Given the description of an element on the screen output the (x, y) to click on. 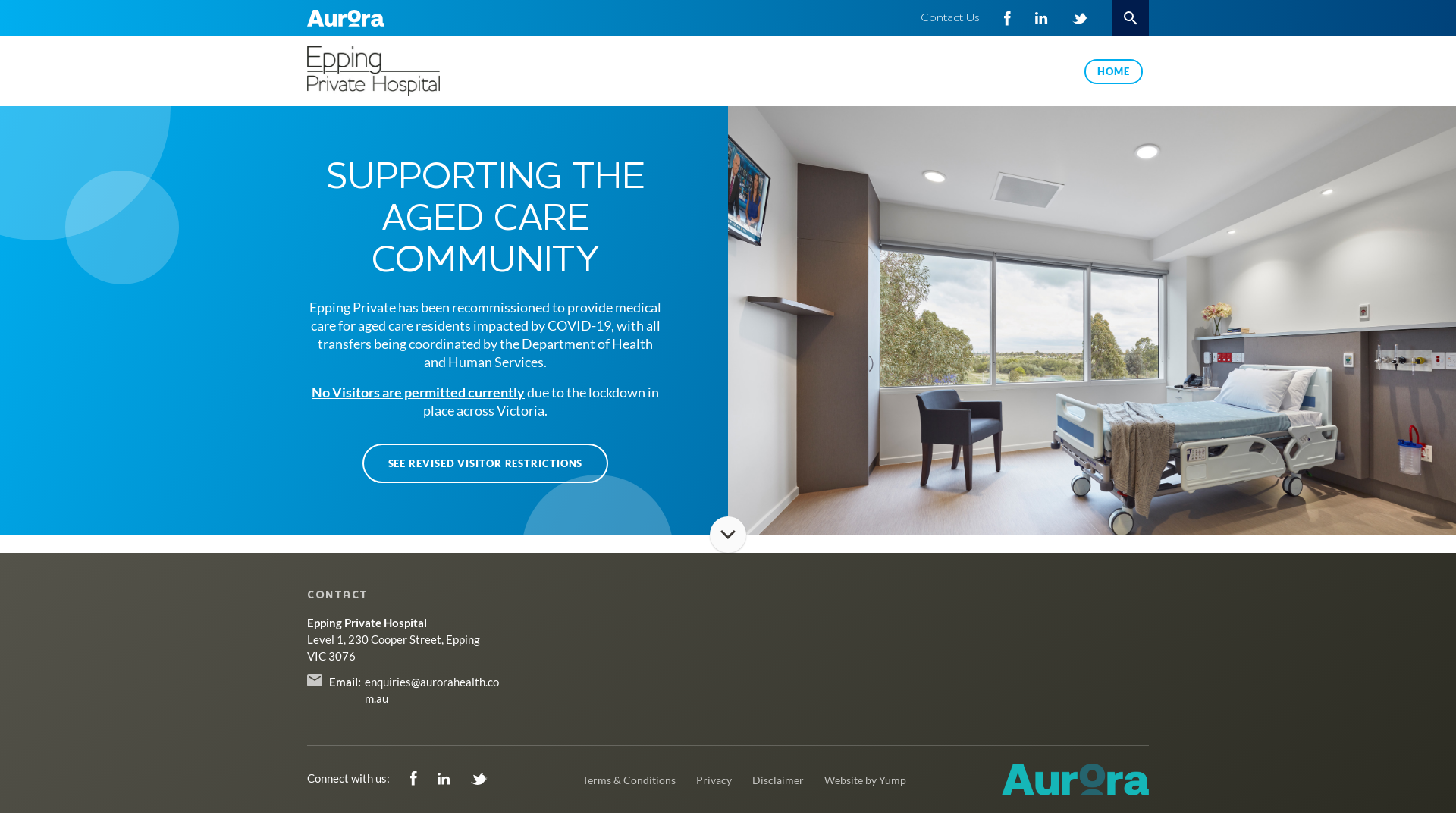
Skip to main content Element type: text (0, 0)
Twitter - HealtheCareAus Element type: text (478, 777)
LinkedIn - 292626 Element type: text (1041, 18)
Disclaimer Element type: text (777, 779)
Facebook page - EppingPrivate Element type: text (1007, 17)
SEE REVISED VISITOR RESTRICTIONS Element type: text (485, 463)
Twitter - HealtheCareAus Element type: text (1080, 17)
Contact Us Element type: text (949, 18)
Epping Private Hospital Element type: text (404, 71)
enquiries@aurorahealth.com.au Element type: text (432, 689)
Privacy Element type: text (713, 779)
Terms & Conditions Element type: text (628, 779)
LinkedIn - 292626 Element type: text (444, 777)
SCROLL TO MAIN CONTENT Element type: text (727, 534)
Facebook page - EppingPrivate Element type: text (414, 777)
HOME
(CURRENT) Element type: text (1113, 71)
Website by Yump Element type: text (865, 779)
